Given the description of an element on the screen output the (x, y) to click on. 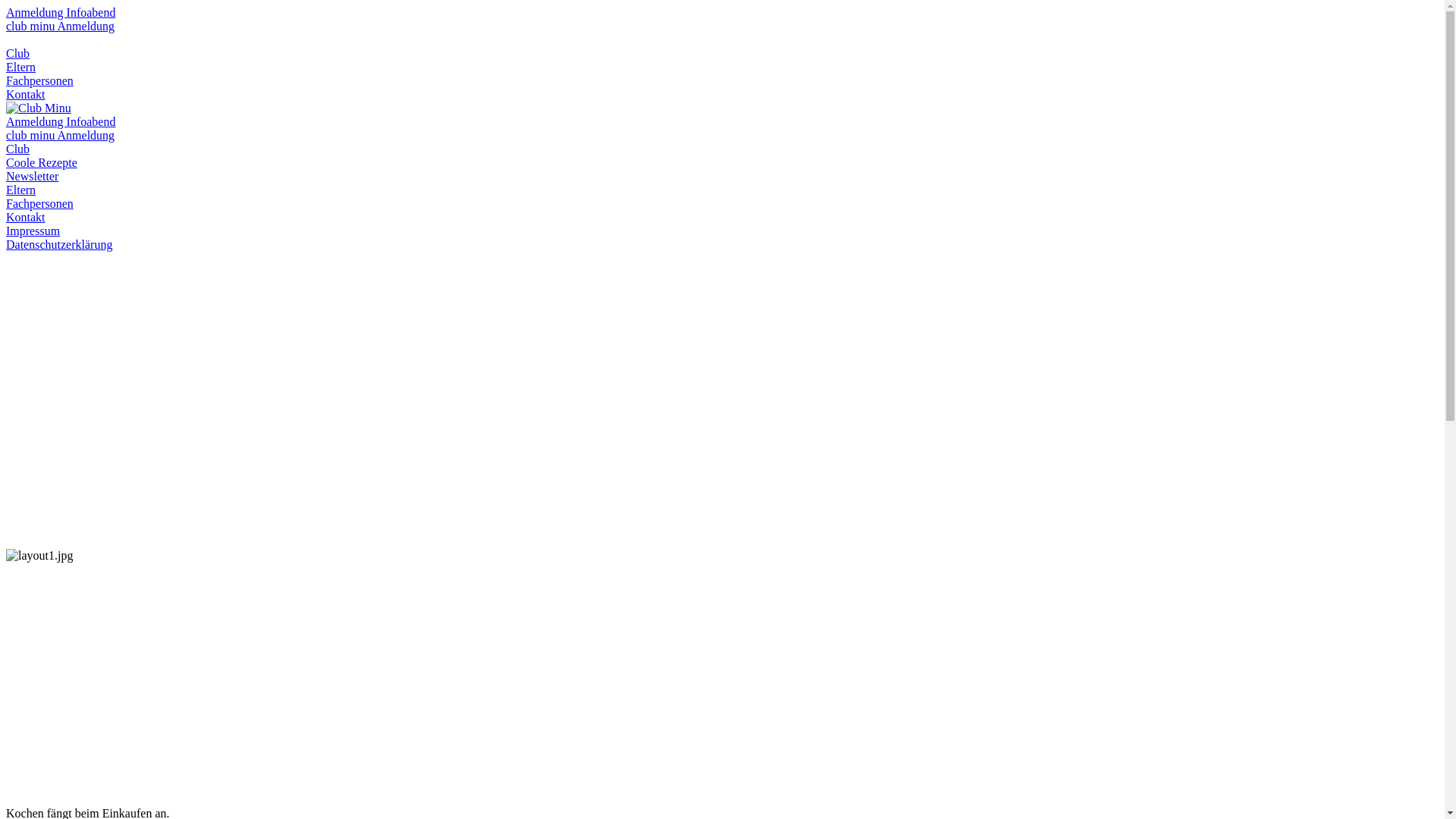
Anmeldung Infoabend Element type: text (60, 121)
Eltern Element type: text (20, 66)
Impressum Element type: text (722, 231)
Anmeldung Infoabend Element type: text (60, 12)
club minu Anmeldung Element type: text (60, 25)
Club Element type: text (17, 53)
Kontakt Element type: text (25, 216)
Impressum Element type: text (32, 230)
Club Element type: text (17, 148)
Fachpersonen Element type: text (39, 203)
Coole Rezepte Element type: text (722, 162)
Newsletter Element type: text (32, 175)
Coole Rezepte Element type: text (41, 162)
club minu Anmeldung Element type: text (60, 134)
Fachpersonen Element type: text (39, 80)
Kontakt Element type: text (25, 93)
Eltern Element type: text (20, 189)
Newsletter Element type: text (722, 176)
